Given the description of an element on the screen output the (x, y) to click on. 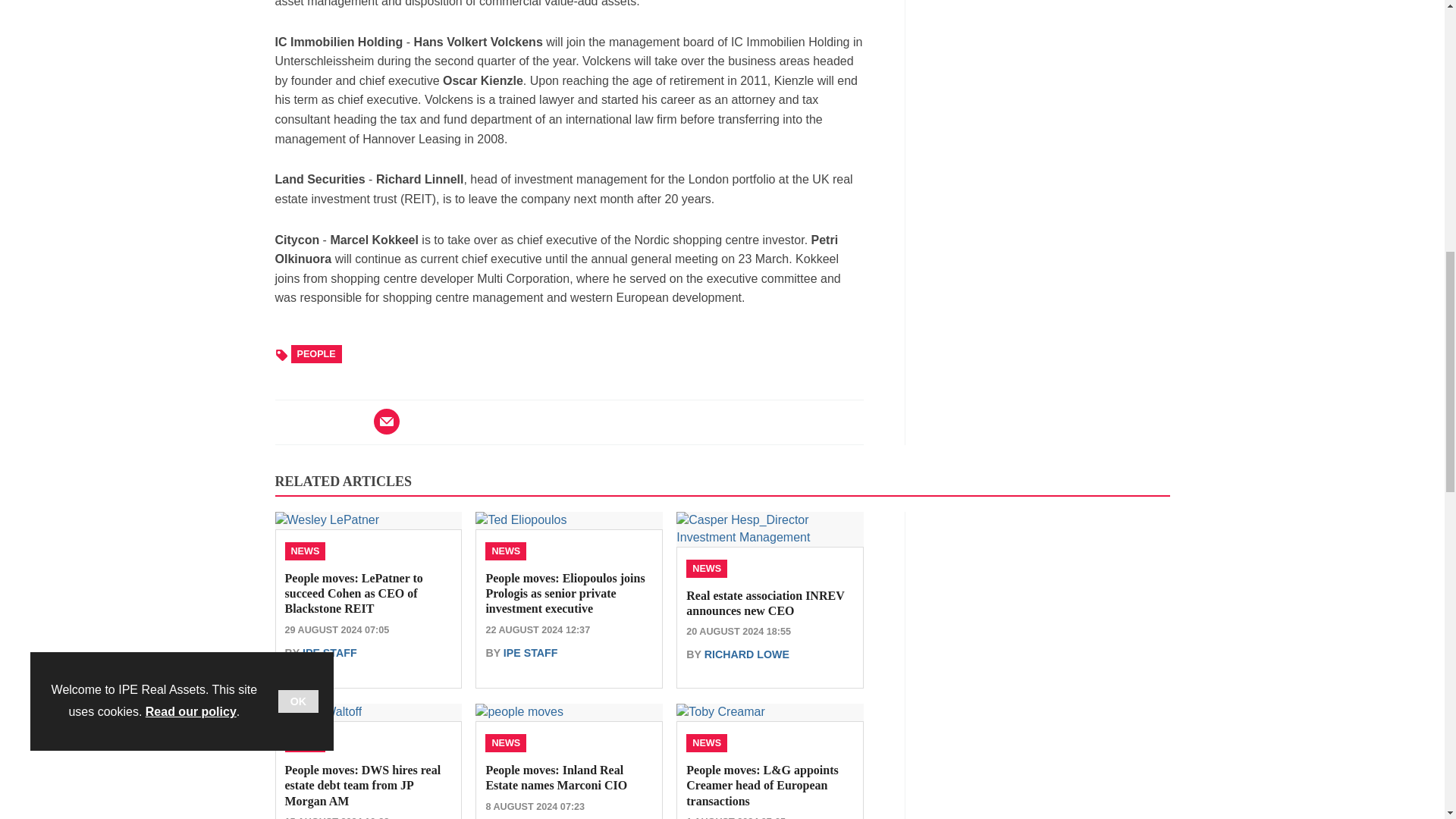
Share this on Facebook (288, 420)
Share this on Twitter (320, 420)
Email this article (386, 420)
Share this on Linked in (352, 420)
